Given the description of an element on the screen output the (x, y) to click on. 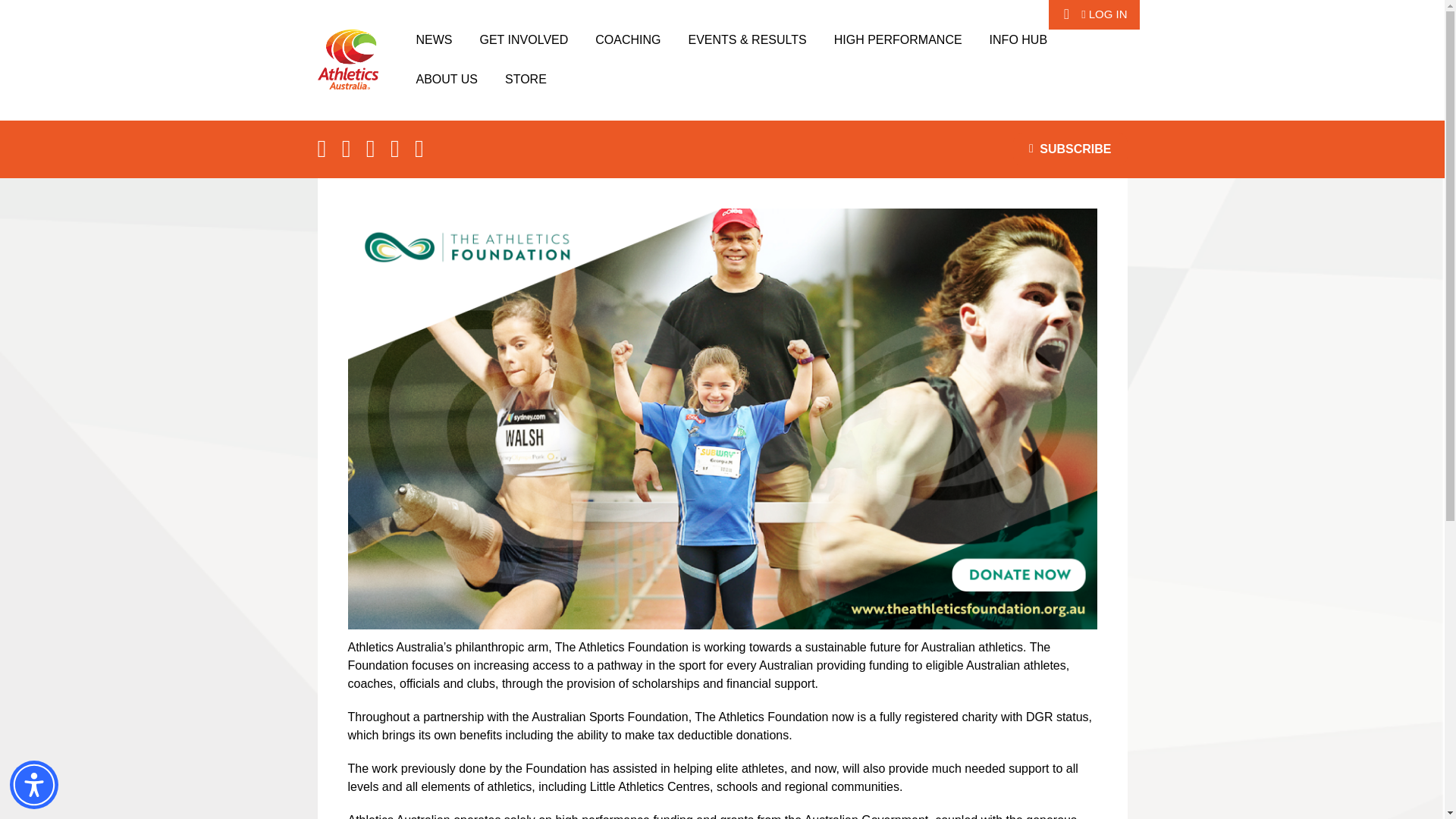
COACHING (627, 38)
GET INVOLVED (522, 38)
NEWS (433, 38)
Opens in new window (526, 78)
Accessibility Menu (34, 784)
Opens in new window (627, 38)
LOG IN (1103, 14)
